Given the description of an element on the screen output the (x, y) to click on. 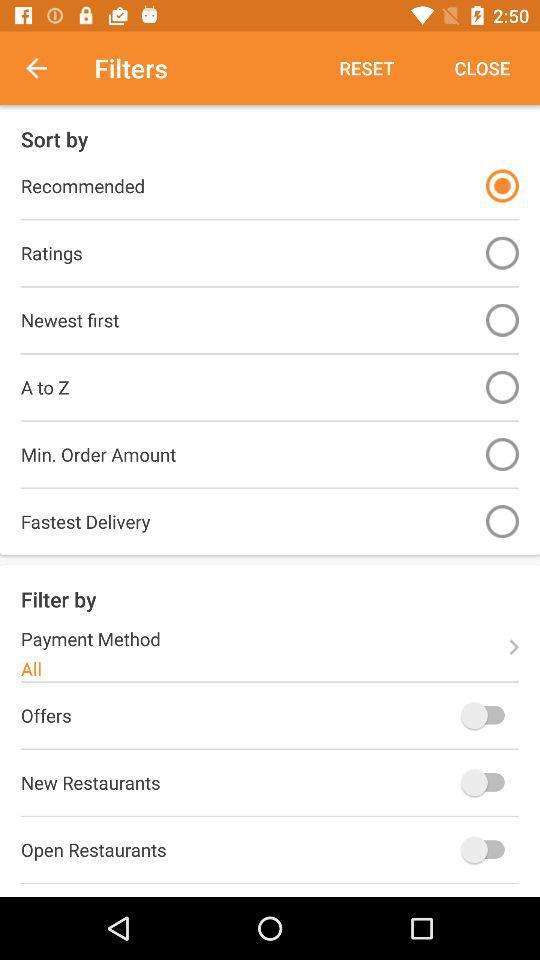
turns on offers choice (487, 715)
